Given the description of an element on the screen output the (x, y) to click on. 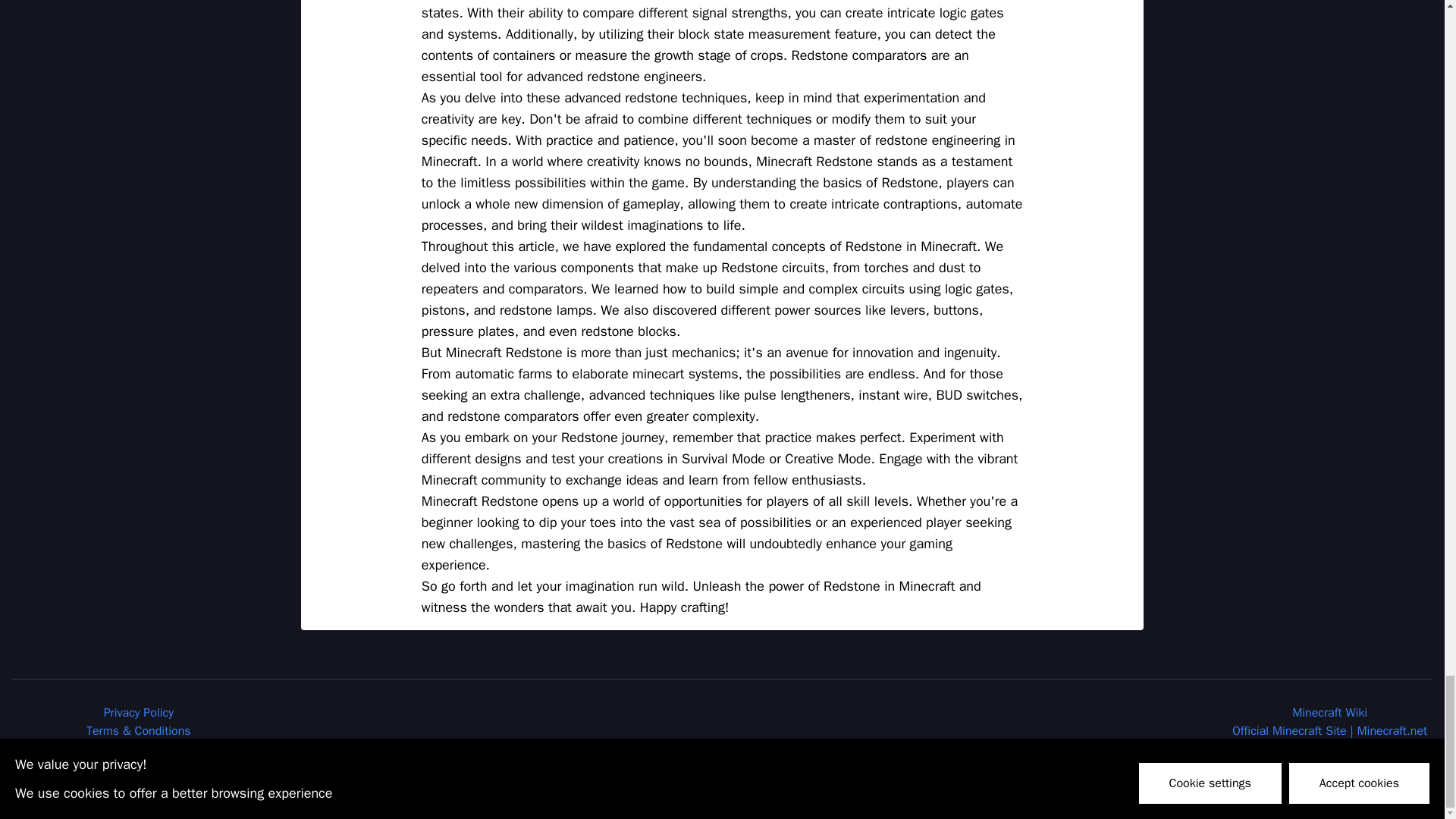
How to Make Potion of Night Vision in Minecraft (137, 749)
What Does Piercing Do in Minecraft (1329, 785)
Creating Minecraft Mods (1329, 767)
Farming Techniques in Minecraft (138, 785)
How to Make Horse Armor in Minecraft (1329, 749)
Minecraft Wiki (1329, 712)
Minecraft Multiplayer Tips (137, 767)
Privacy Policy (138, 712)
